Given the description of an element on the screen output the (x, y) to click on. 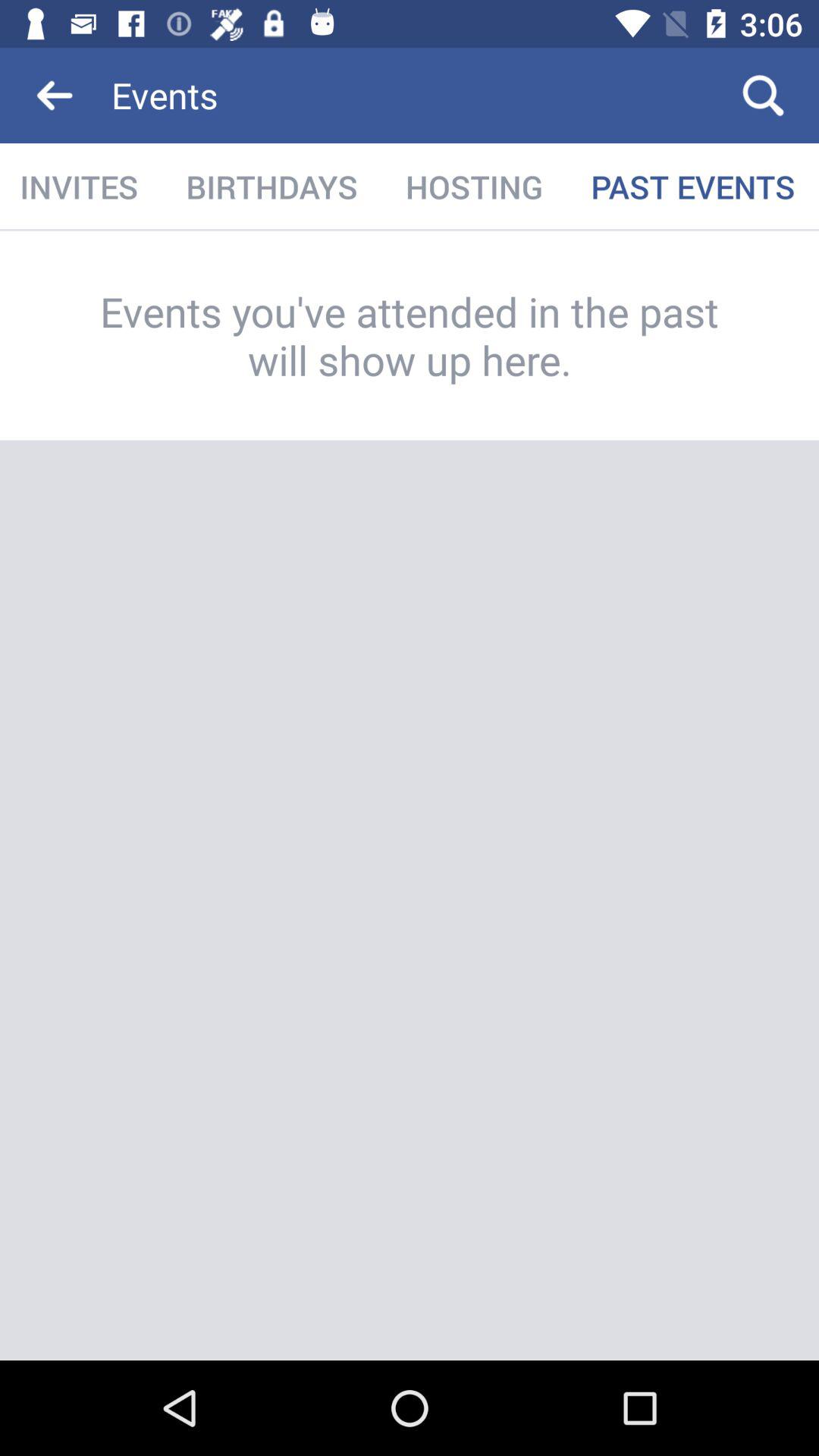
click icon next to the invites (271, 186)
